Given the description of an element on the screen output the (x, y) to click on. 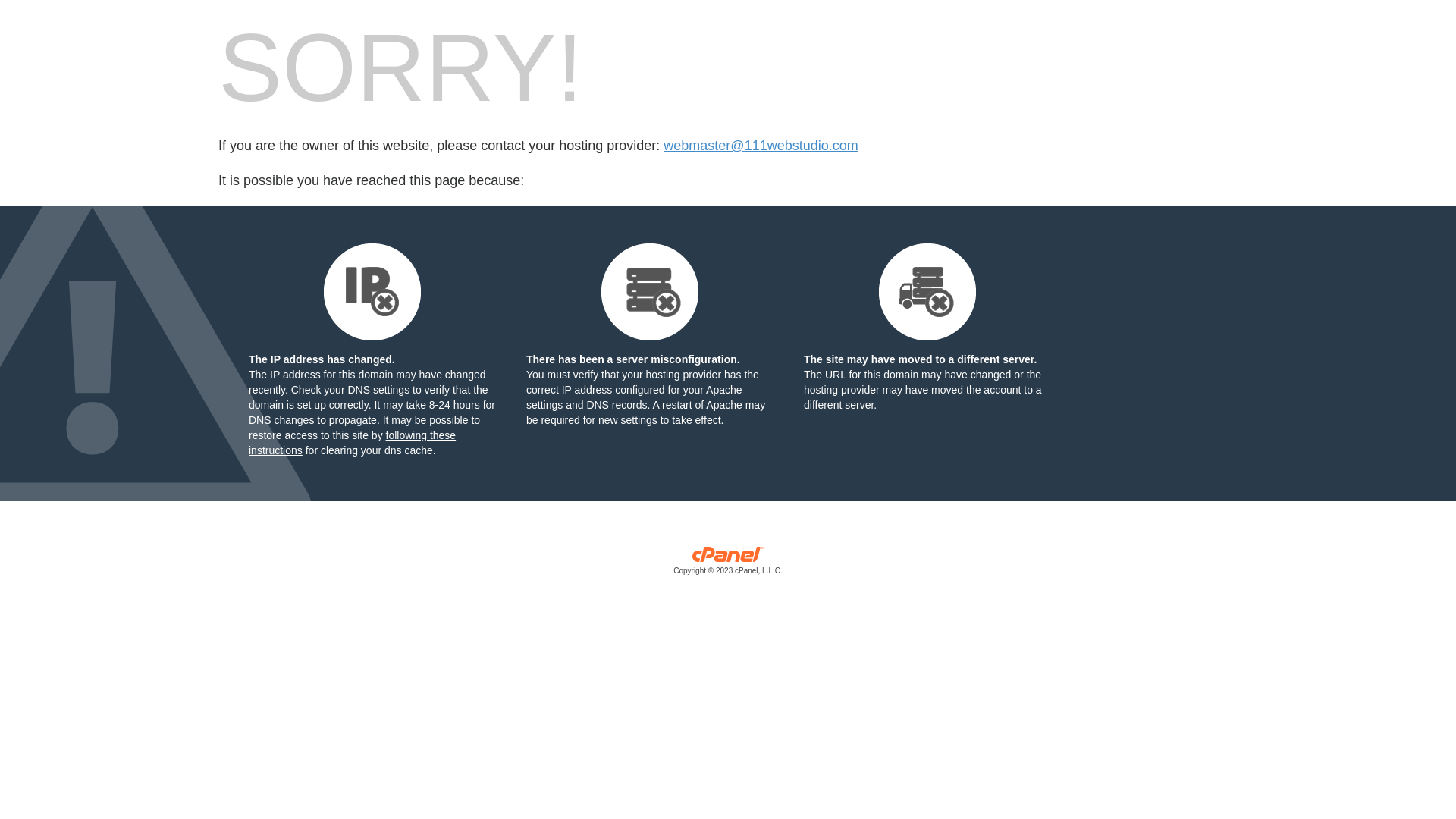
webmaster@111webstudio.com Element type: text (760, 145)
following these instructions Element type: text (351, 442)
